Given the description of an element on the screen output the (x, y) to click on. 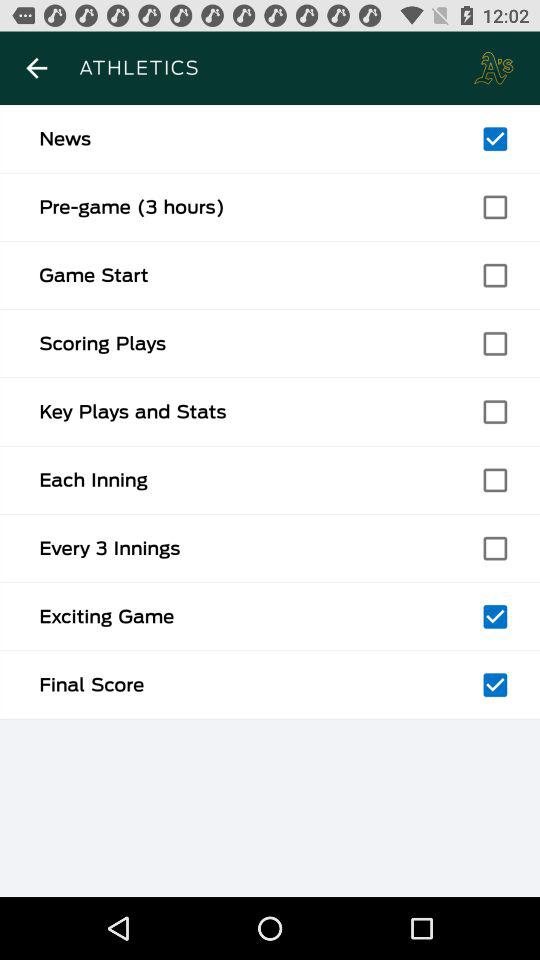
click to select (495, 207)
